Given the description of an element on the screen output the (x, y) to click on. 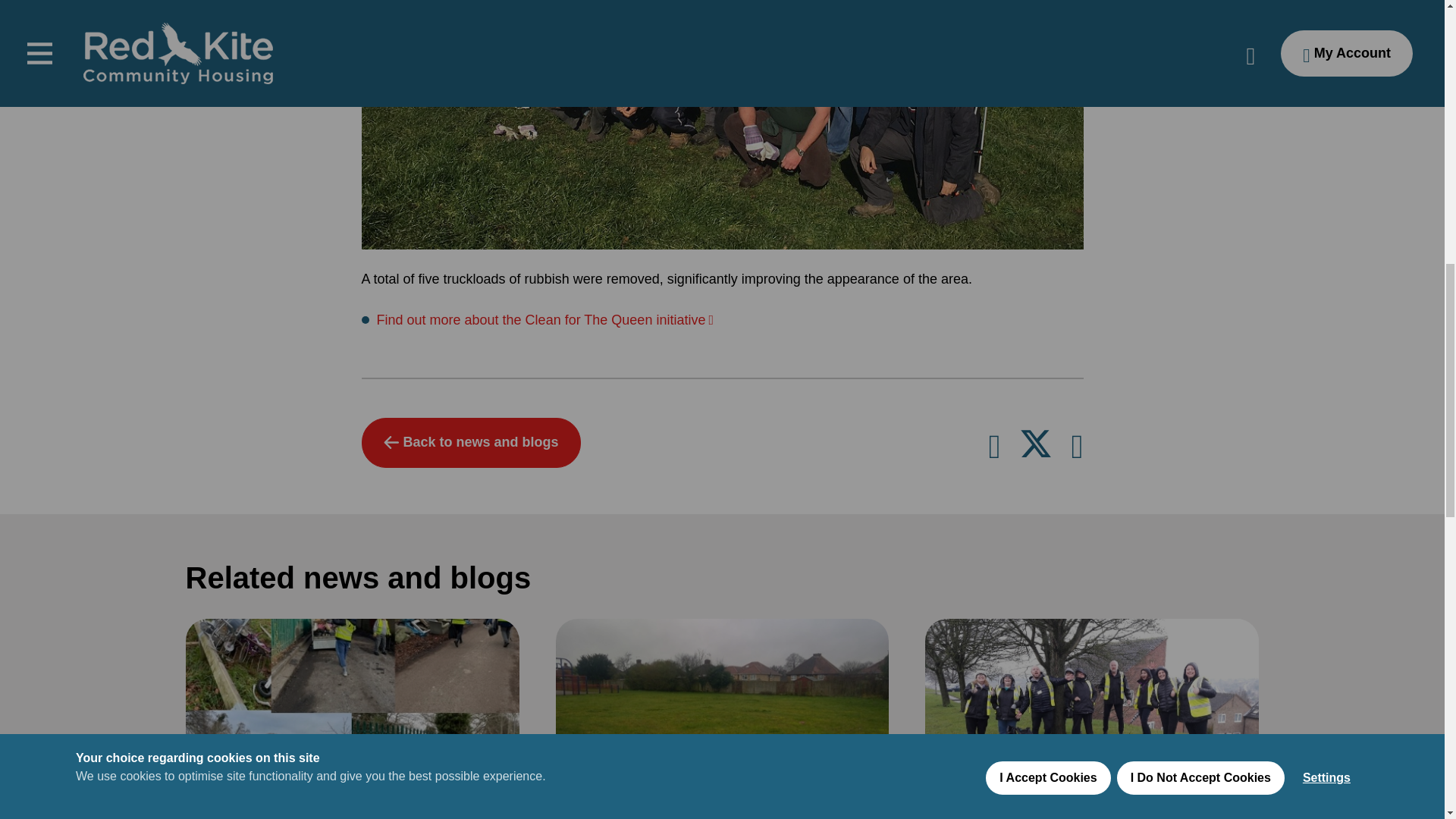
I Do Not Accept Cookies (1200, 17)
I Accept Cookies (1047, 32)
Clean for The Queen (544, 319)
Share on Twitter (1037, 449)
Share on Facebook (1076, 449)
Share on Email (994, 449)
Settings (1326, 8)
